Given the description of an element on the screen output the (x, y) to click on. 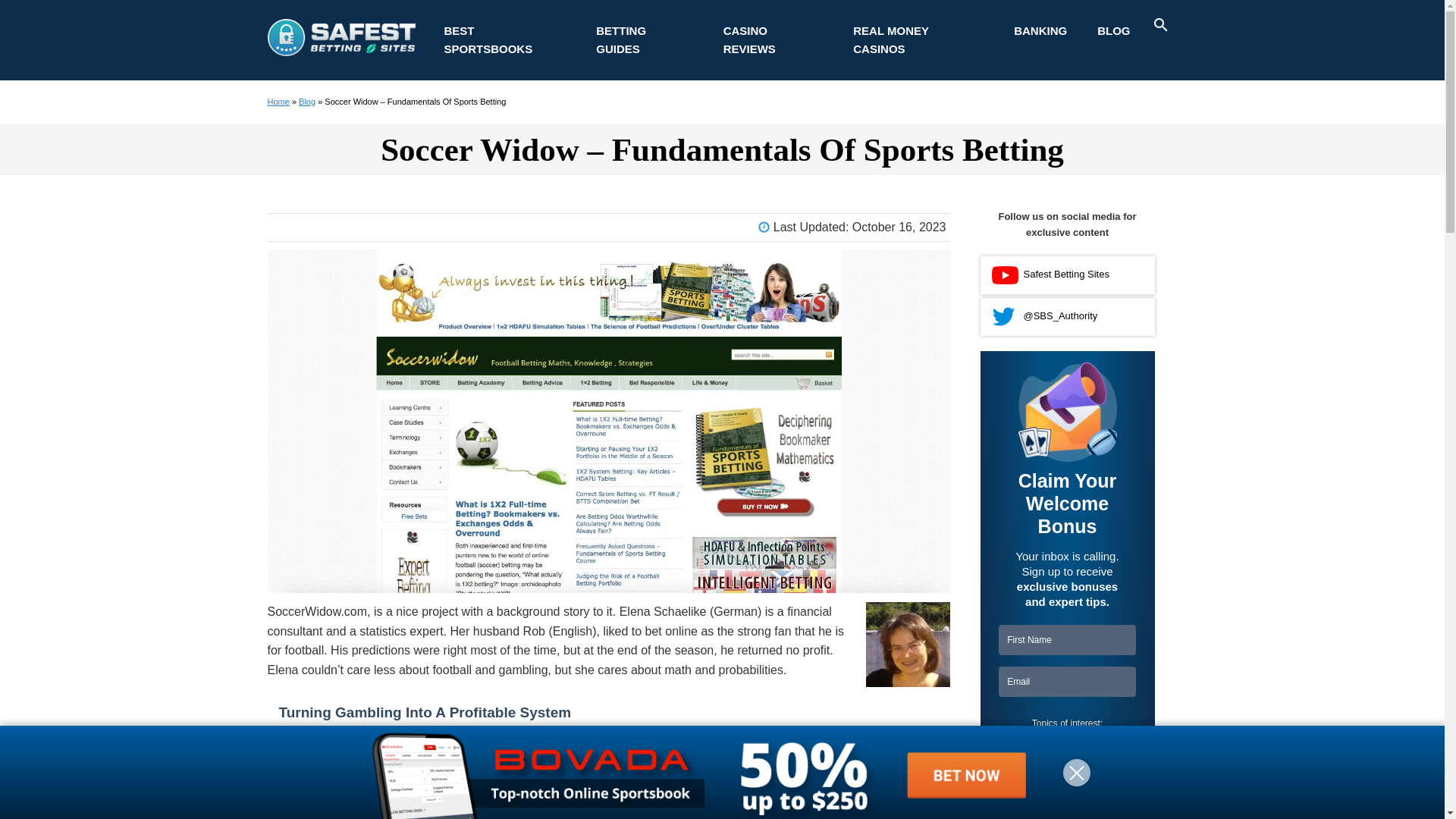
1 (1016, 743)
BETTING GUIDES (644, 40)
REAL MONEY CASINOS (918, 40)
1 (1000, 815)
BEST SPORTSBOOKS (504, 40)
1 (1118, 743)
1 (1067, 743)
Sports Betting Strategy (644, 40)
Safest Betting Sites (340, 51)
BANKING (1040, 31)
